Given the description of an element on the screen output the (x, y) to click on. 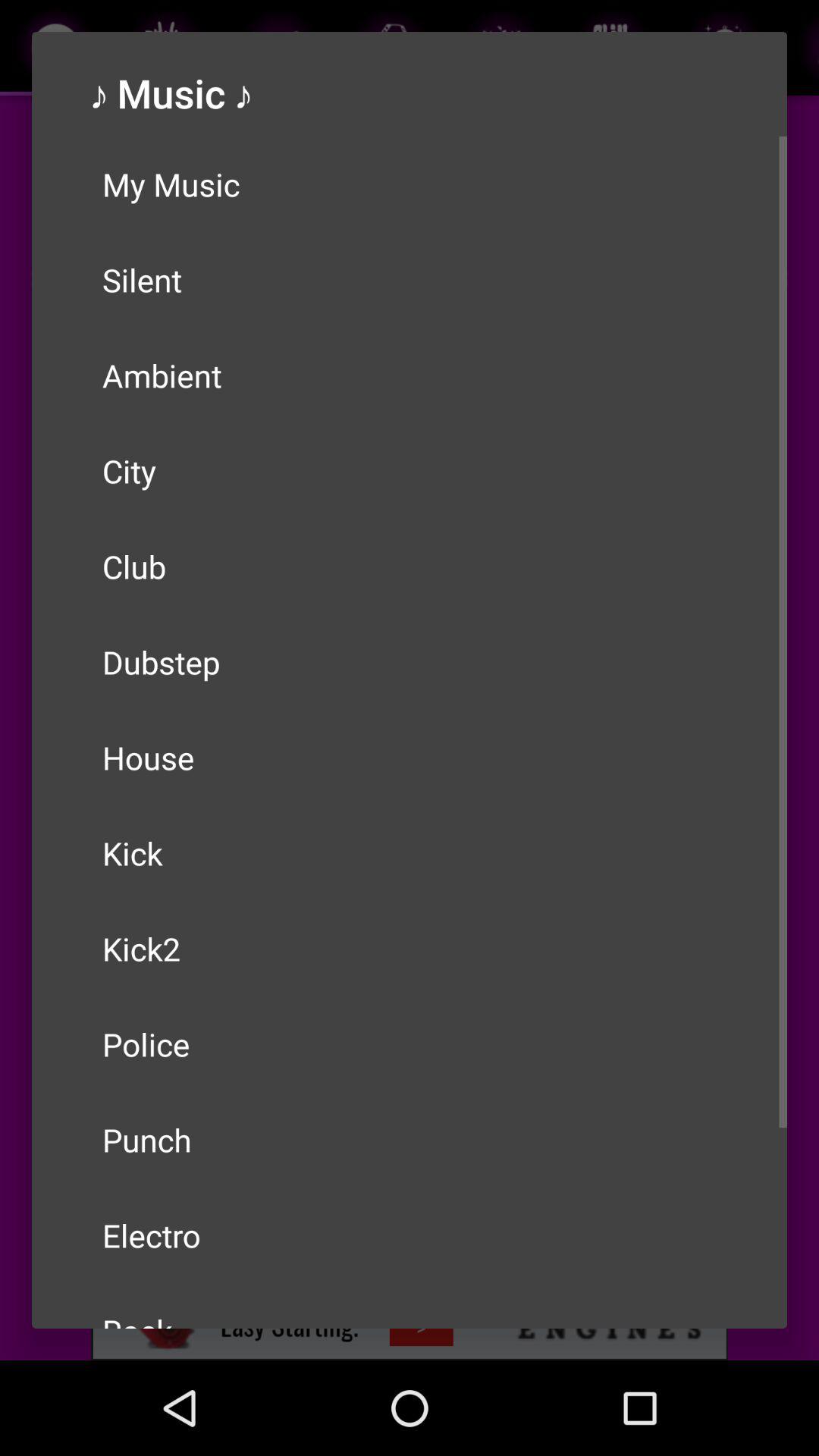
click item below the 		my music item (409, 279)
